Given the description of an element on the screen output the (x, y) to click on. 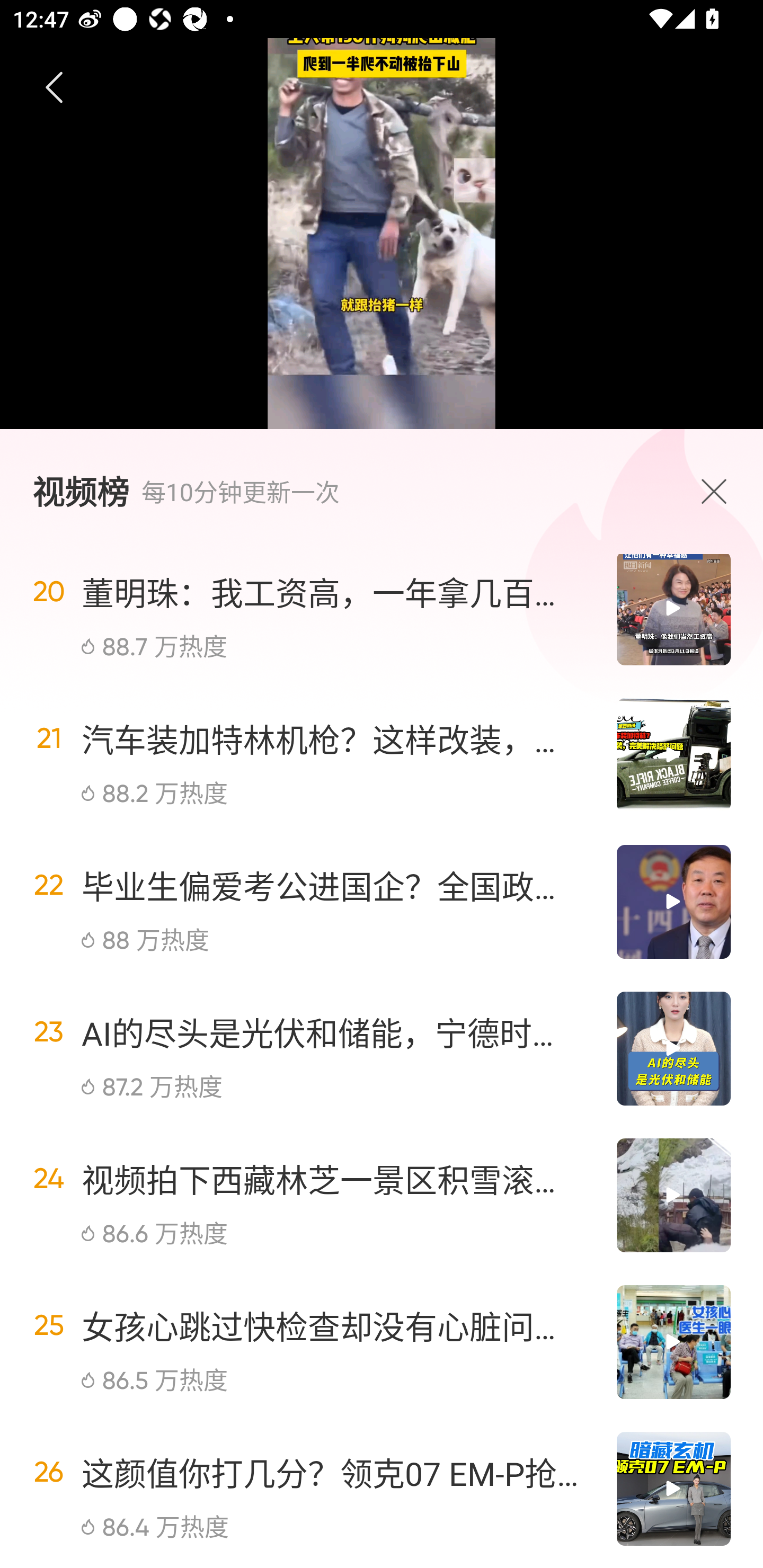
 返回 (54, 87)
 (718, 491)
21 汽车装加特林机枪？这样改装，完美解决路怒问题 88.2 万热度 (381, 754)
22 毕业生偏爱考公进国企？全国政协委员刘林：不应指责年轻人 88 万热度 (381, 901)
23 AI的尽头是光伏和储能，宁德时代翻身了？ 87.2 万热度 (381, 1048)
24 视频拍下西藏林芝一景区积雪滚落瞬间：砸倒围挡 游客连喊撤退 86.6 万热度 (381, 1195)
25 女孩心跳过快检查却没有心脏问题，医生问了一句话找出病因所在 86.5 万热度 (381, 1341)
26 这颜值你打几分？领克07 EM-P抢先体验，真有那么香吗 86.4 万热度 (381, 1488)
